Given the description of an element on the screen output the (x, y) to click on. 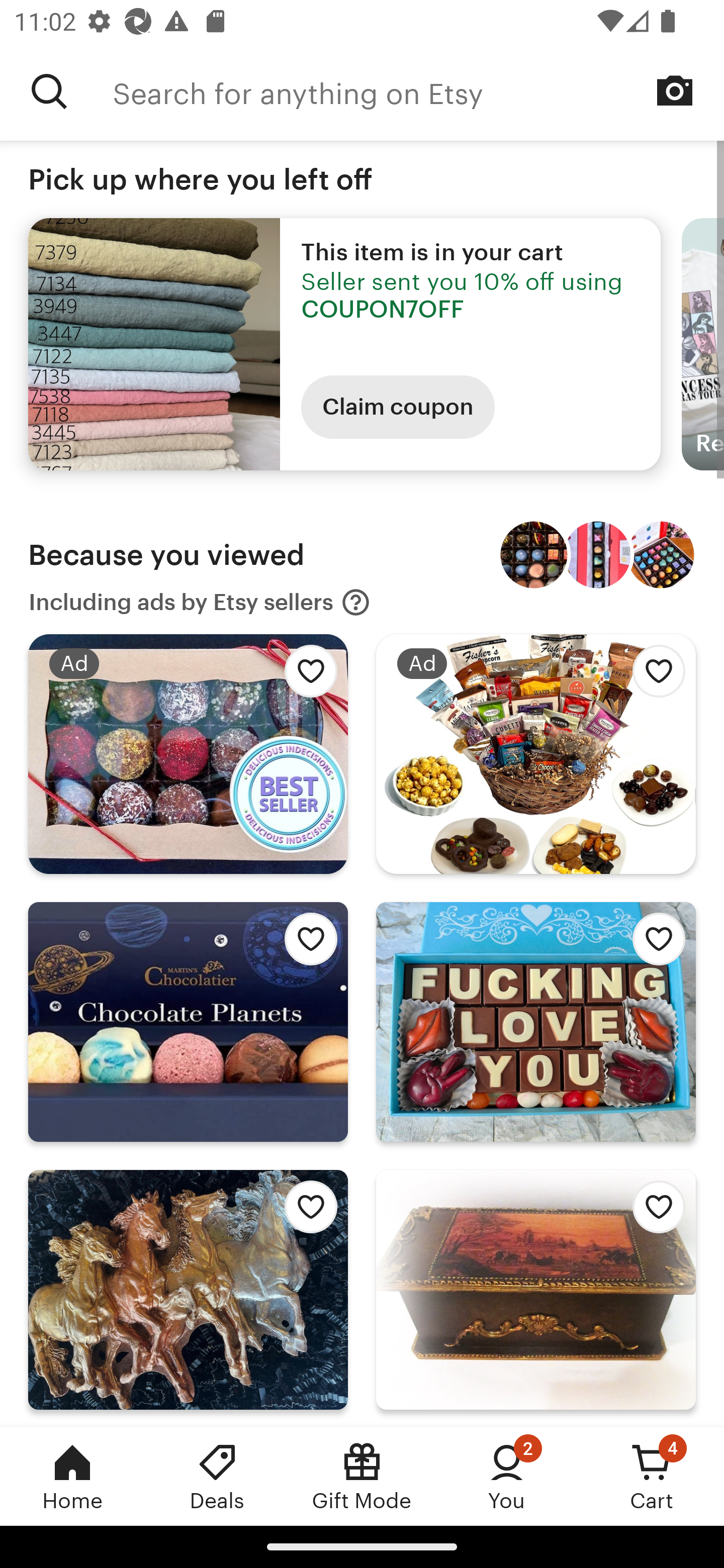
Search for anything on Etsy (49, 91)
Search by image (674, 90)
Search for anything on Etsy (418, 91)
Claim coupon (397, 407)
Including ads by Etsy sellers (199, 601)
Deals (216, 1475)
Gift Mode (361, 1475)
You, 2 new notifications You (506, 1475)
Cart, 4 new notifications Cart (651, 1475)
